Given the description of an element on the screen output the (x, y) to click on. 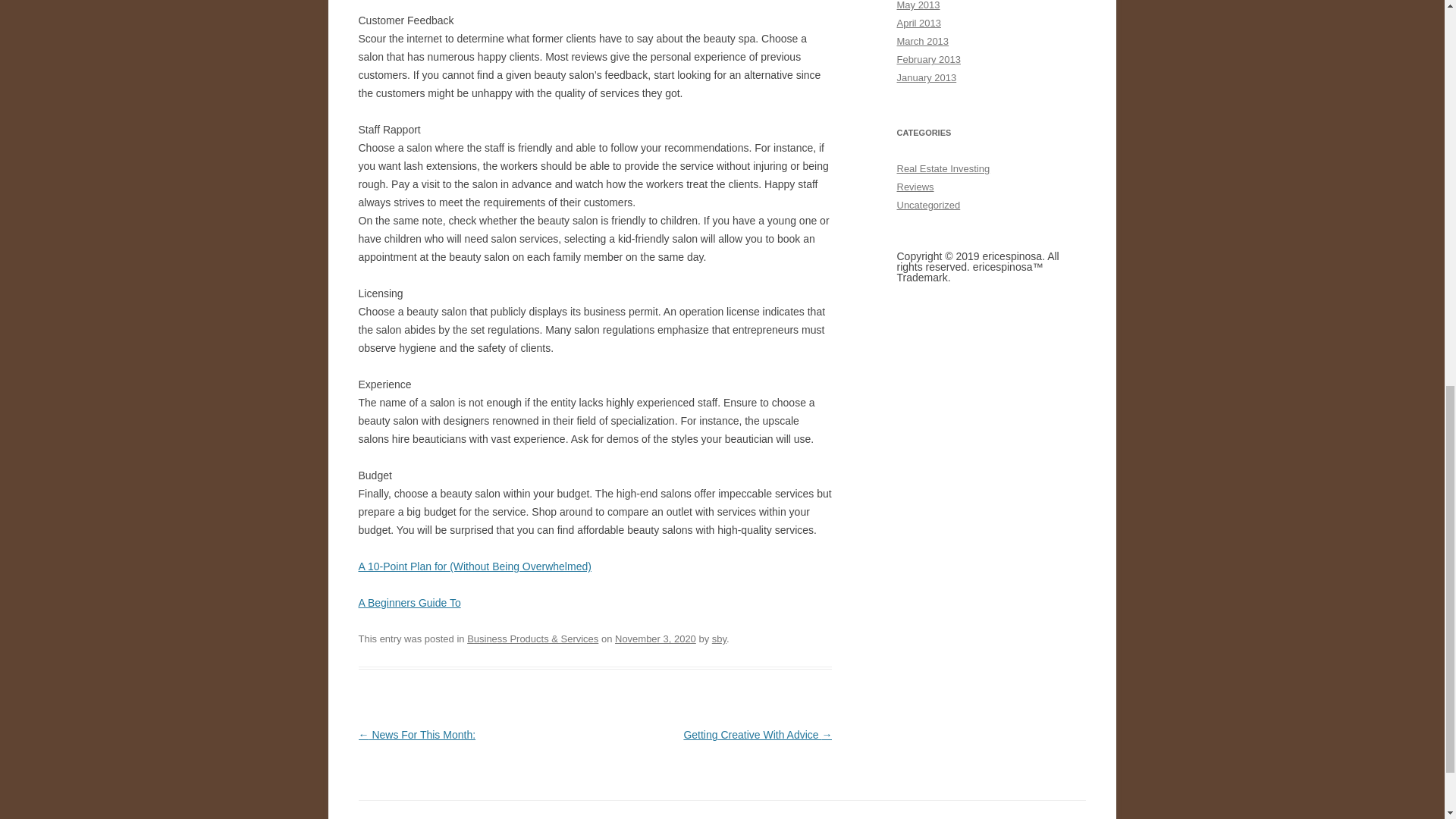
sby (718, 638)
May 2013 (917, 5)
A Beginners Guide To (409, 603)
November 3, 2020 (654, 638)
March 2013 (922, 41)
April 2013 (918, 22)
View all posts by sby (718, 638)
10:04 pm (654, 638)
February 2013 (927, 59)
